Given the description of an element on the screen output the (x, y) to click on. 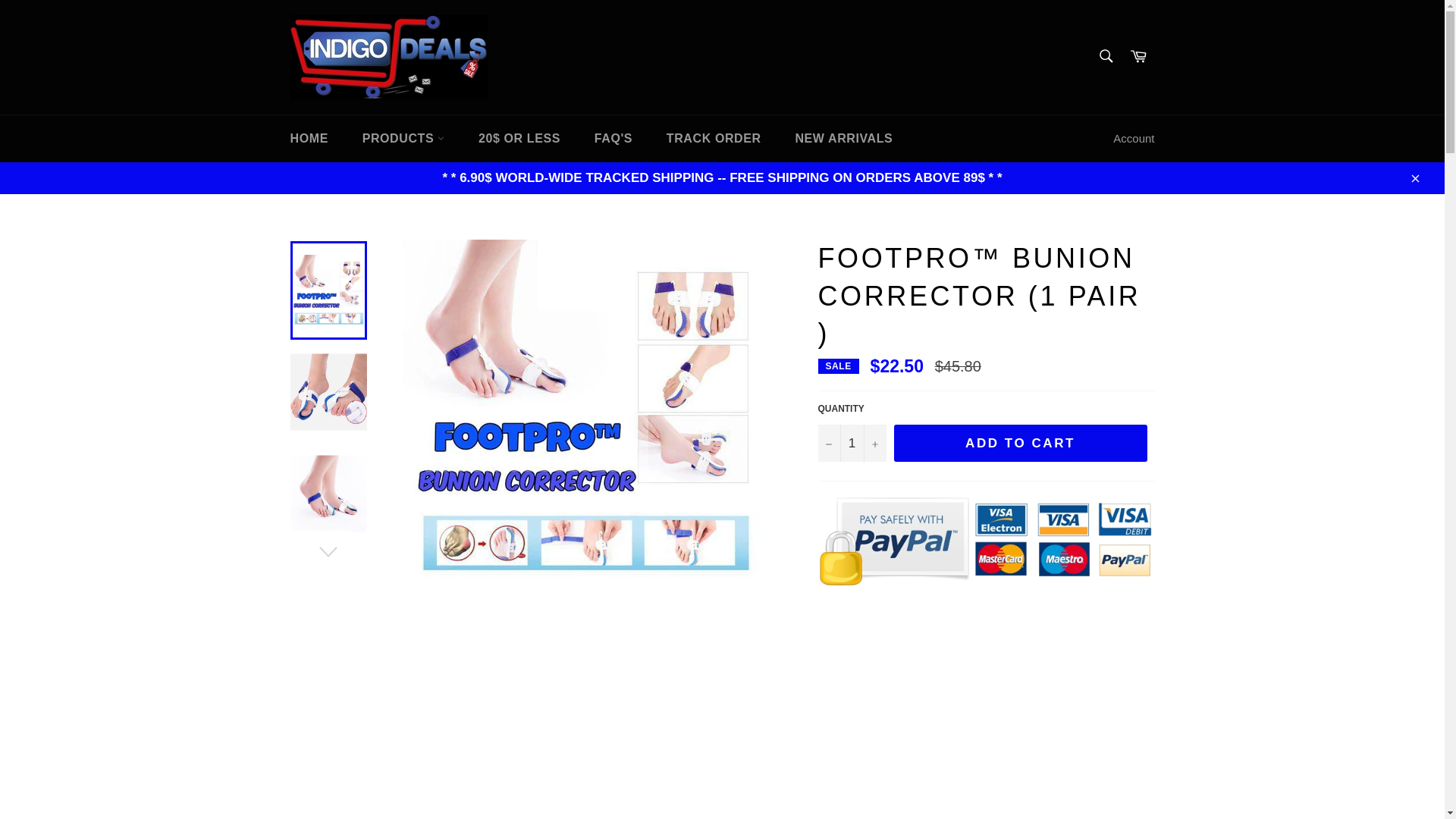
Search (1104, 56)
PRODUCTS (403, 138)
Cart (1138, 57)
HOME (308, 138)
1 (850, 443)
